Given the description of an element on the screen output the (x, y) to click on. 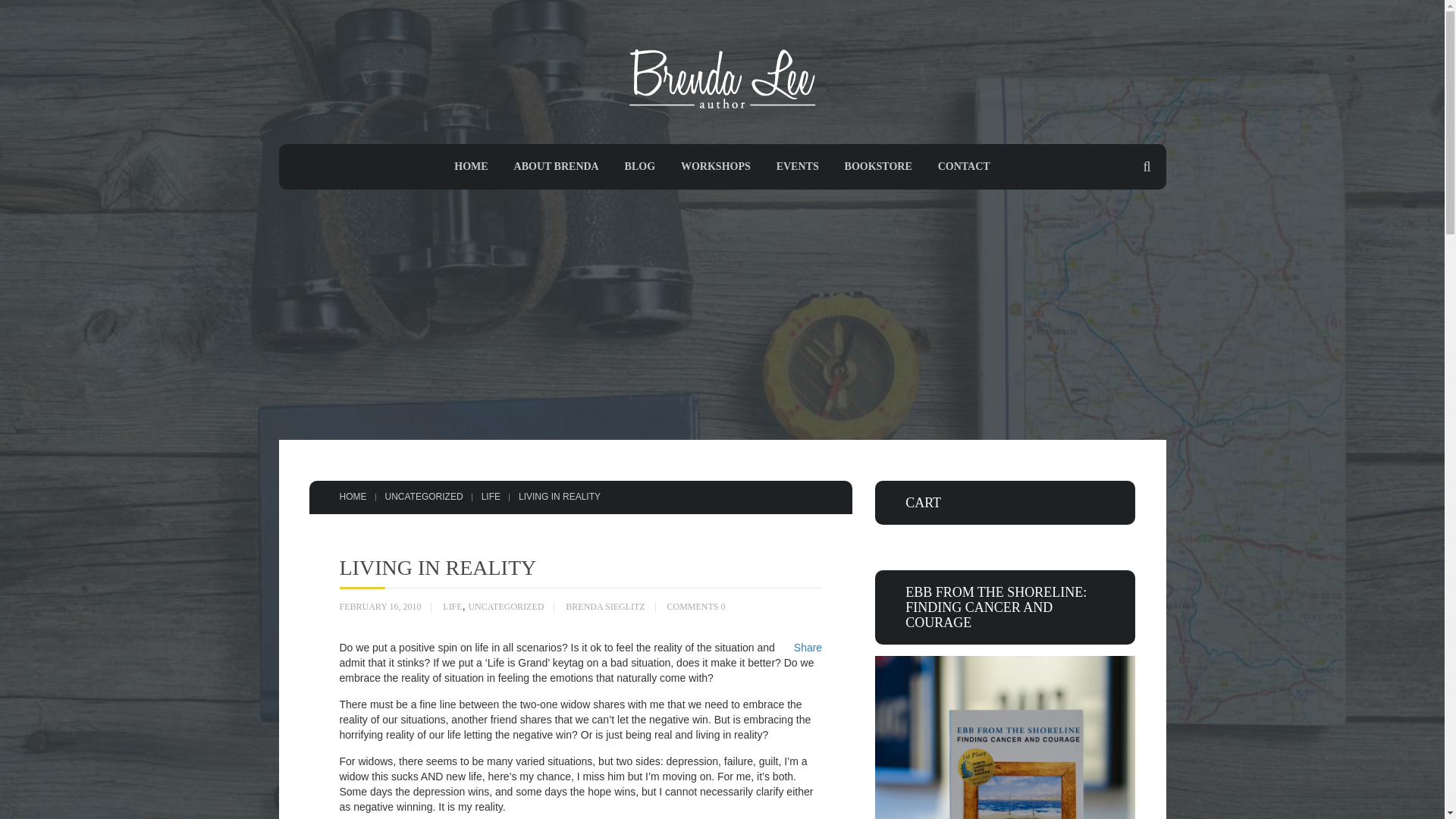
FEBRUARY 16, 2010 (380, 606)
UNCATEGORIZED (424, 496)
Life (490, 496)
ABOUT BRENDA (555, 165)
CONTACT (963, 165)
Share (807, 647)
Posts by Brenda Sieglitz (605, 606)
COMMENTS 0 (695, 606)
BRENDA SIEGLITZ (605, 606)
BLOG (639, 165)
